Given the description of an element on the screen output the (x, y) to click on. 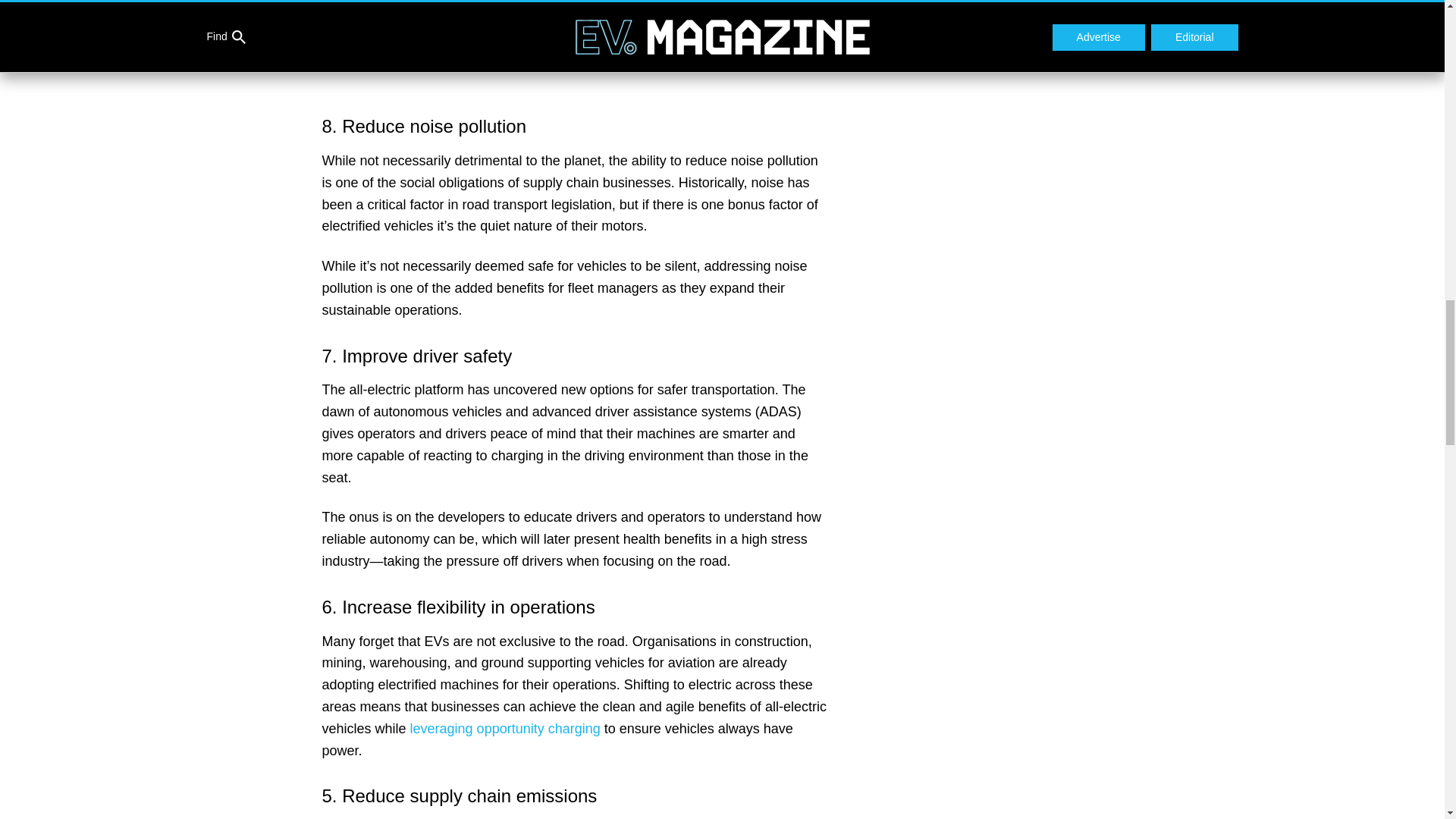
leveraging opportunity charging (504, 728)
